Given the description of an element on the screen output the (x, y) to click on. 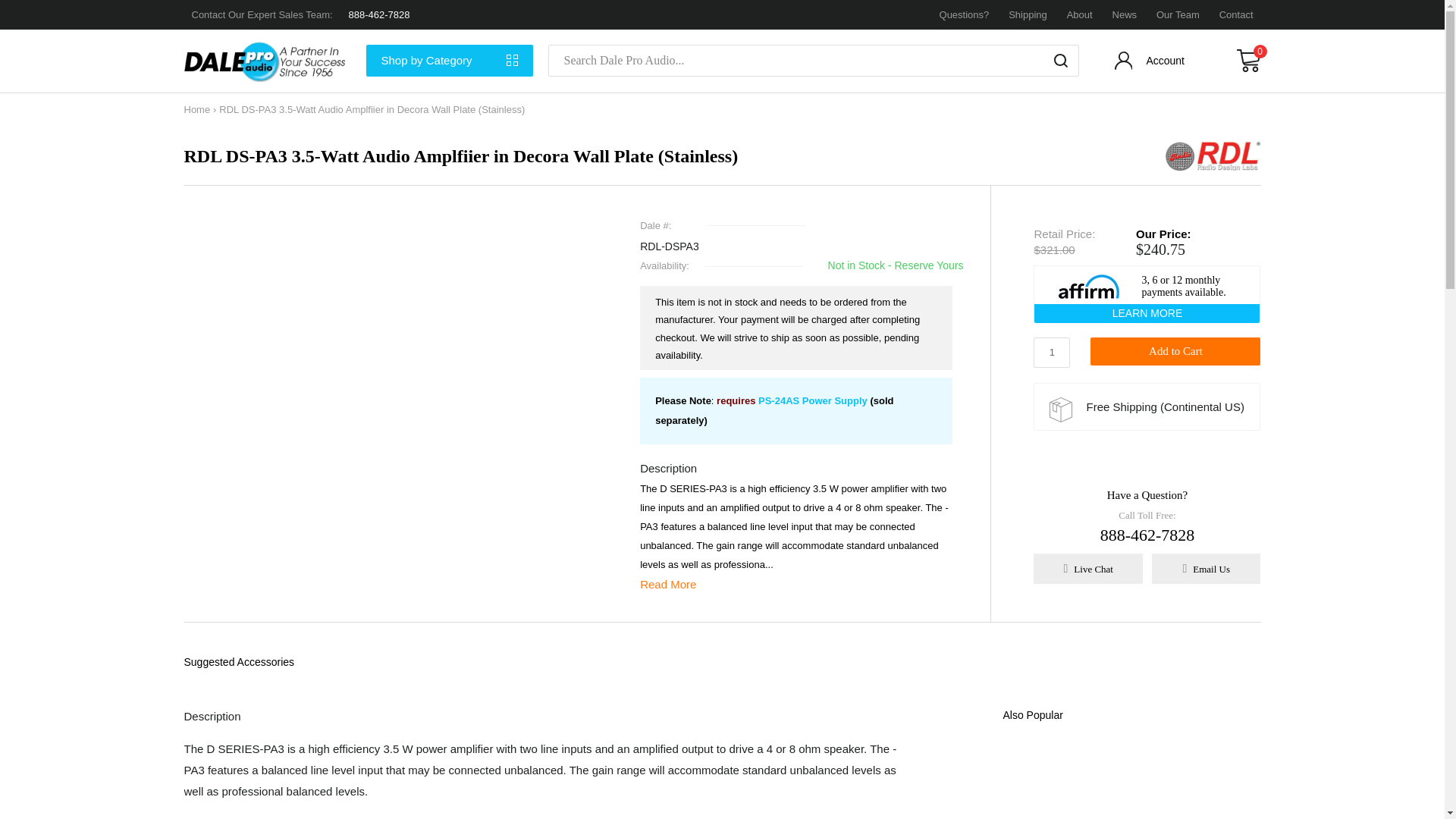
1 (1051, 352)
News (1124, 14)
Account  (1151, 63)
Dale Pro Audio (266, 61)
Our Team (1177, 14)
RDL PS-24AS Power Supply (812, 400)
Questions? (964, 14)
Shop by Category (448, 60)
About (1080, 14)
Shipping (1027, 14)
888-462-7828 (379, 14)
Contact (1236, 14)
Account (1151, 63)
Home (196, 109)
